Given the description of an element on the screen output the (x, y) to click on. 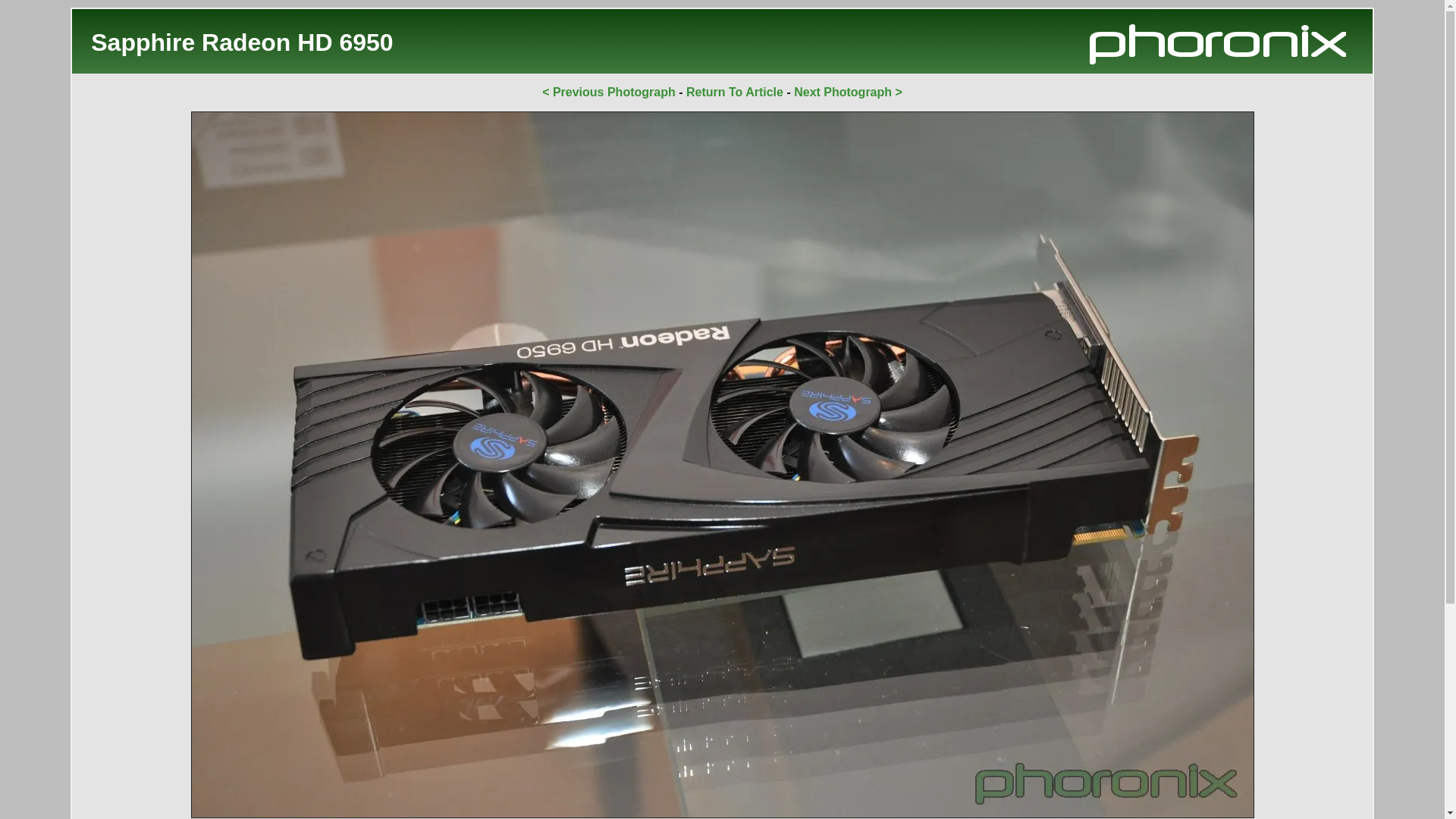
Return To Article (734, 91)
